Given the description of an element on the screen output the (x, y) to click on. 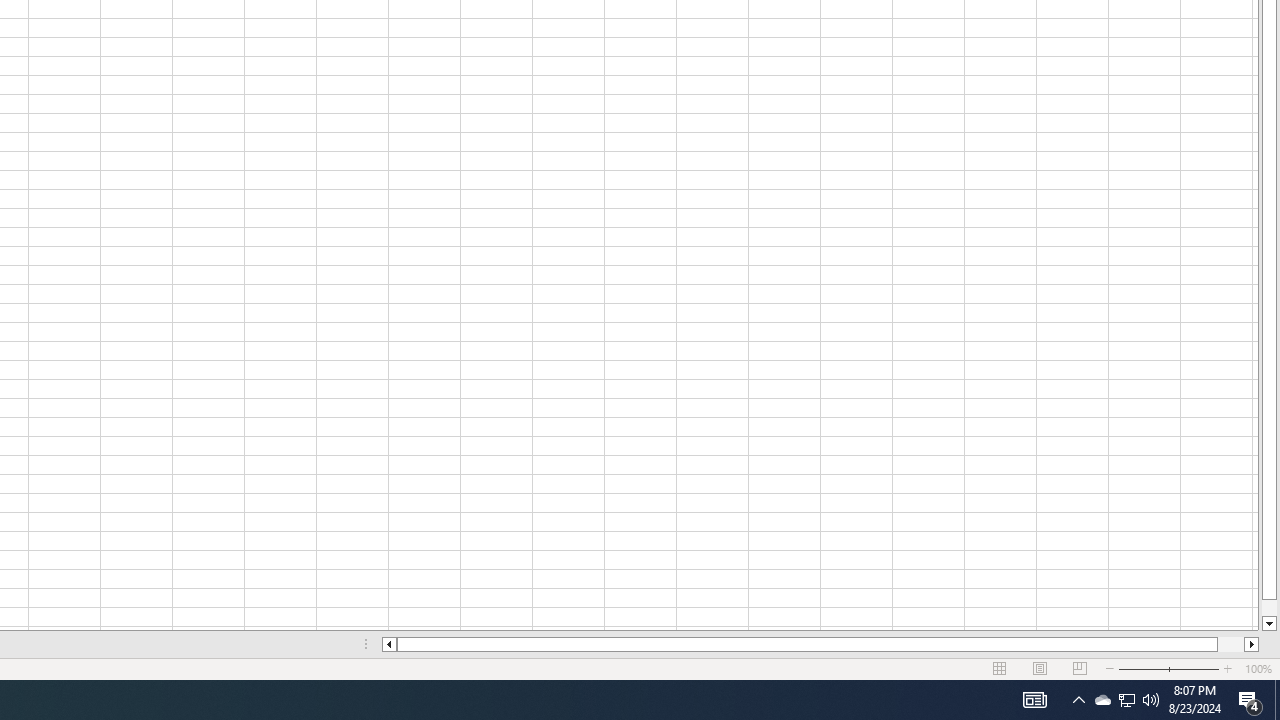
Line down (1268, 624)
Zoom In (1227, 668)
Zoom Out (1142, 668)
Class: NetUIScrollBar (820, 644)
Column left (388, 644)
Zoom (1168, 668)
Column right (1252, 644)
Page Break Preview (1079, 668)
Page right (1231, 644)
Page down (1268, 607)
